Given the description of an element on the screen output the (x, y) to click on. 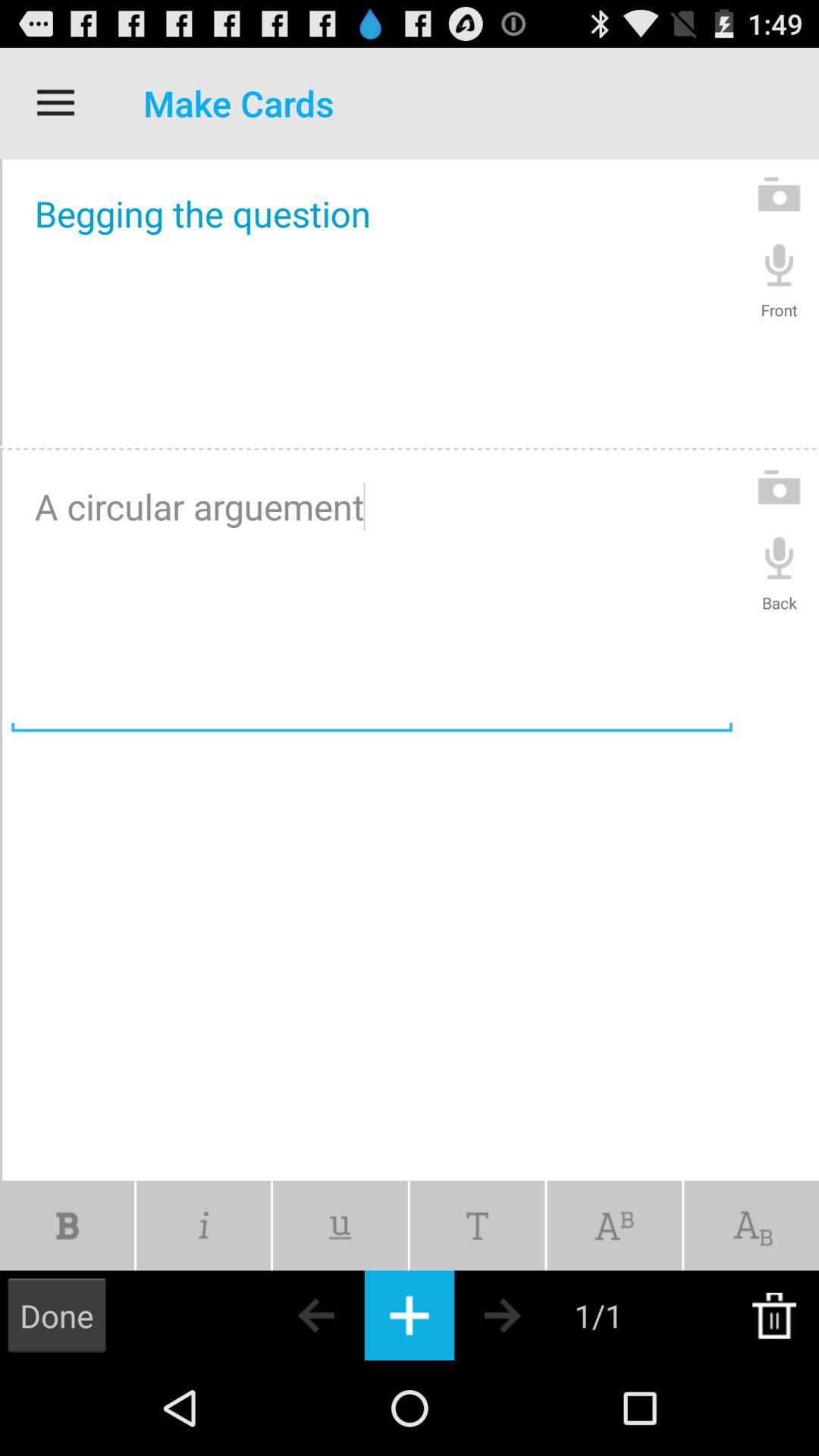
swipe until the begging the question (371, 302)
